Given the description of an element on the screen output the (x, y) to click on. 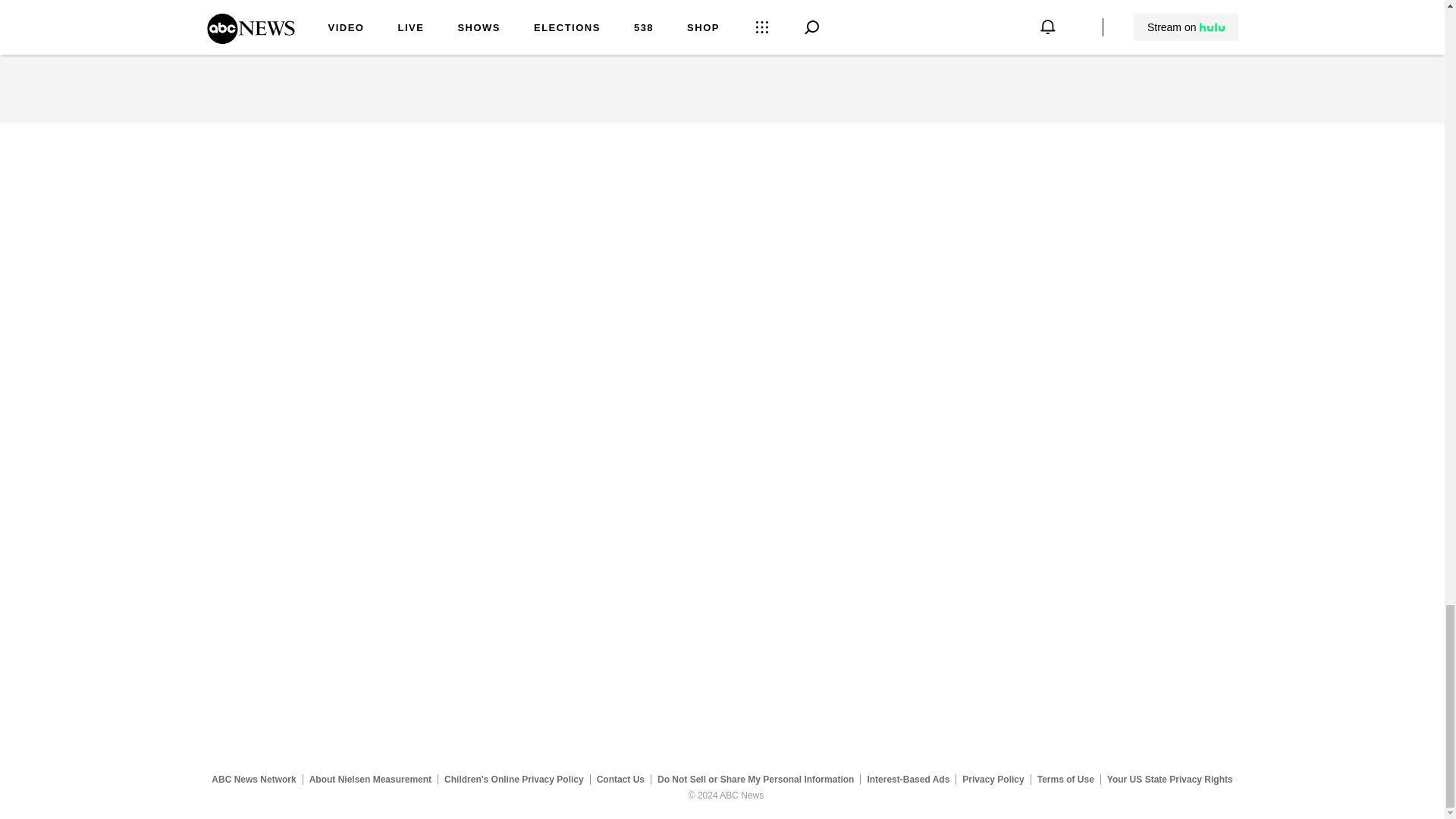
Do Not Sell or Share My Personal Information (755, 778)
Children's Online Privacy Policy (514, 778)
Terms of Use (1065, 778)
Privacy Policy (993, 778)
About Nielsen Measurement (370, 778)
Interest-Based Ads (908, 778)
ABC News Network (253, 778)
Contact Us (620, 778)
Your US State Privacy Rights (1169, 778)
